Given the description of an element on the screen output the (x, y) to click on. 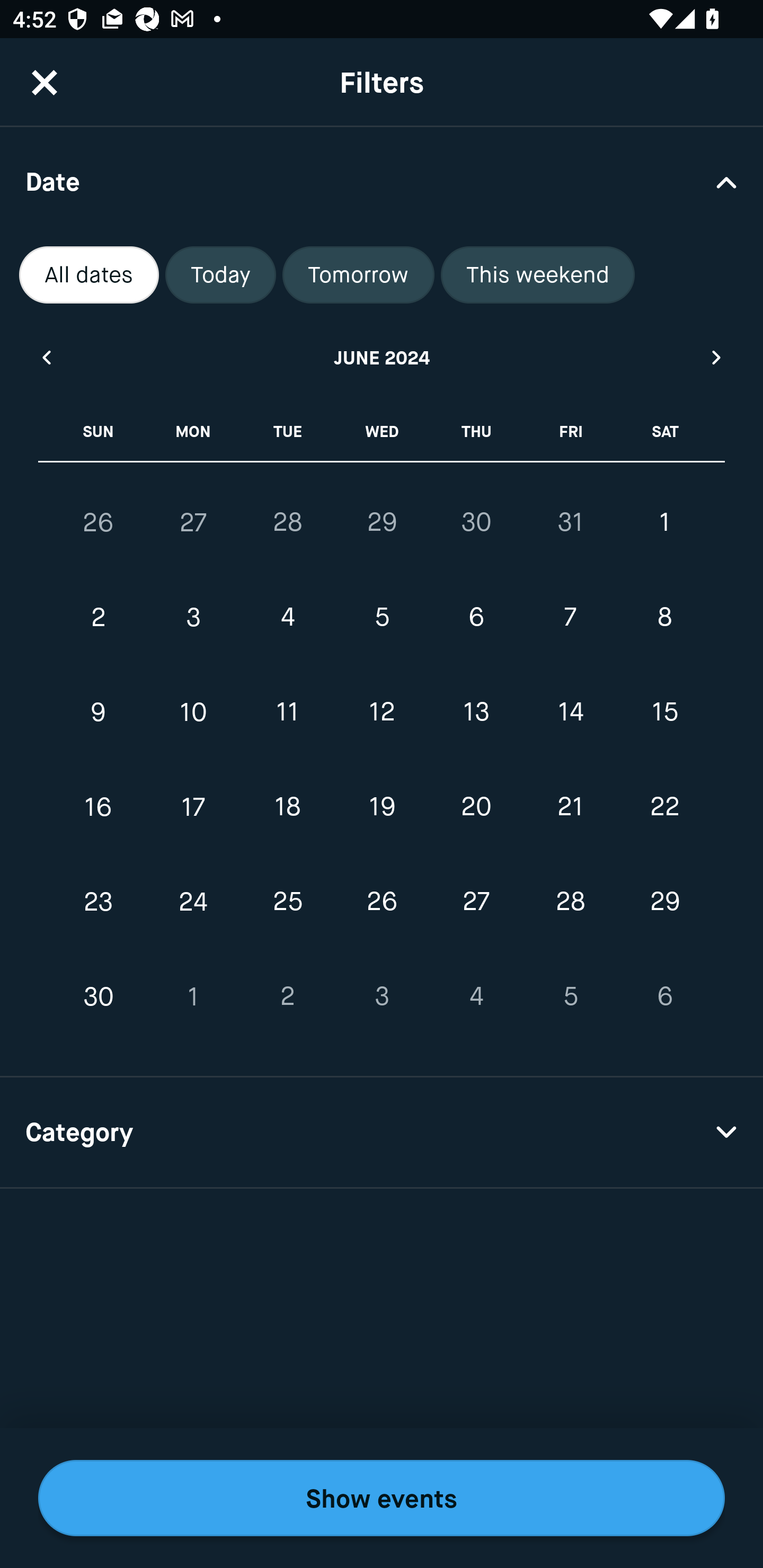
CloseButton (44, 82)
Date Drop Down Arrow (381, 181)
All dates (88, 274)
Today (220, 274)
Tomorrow (358, 274)
This weekend (537, 274)
Previous (45, 357)
Next (717, 357)
26 (98, 522)
27 (192, 522)
28 (287, 522)
29 (381, 522)
30 (475, 522)
31 (570, 522)
1 (664, 522)
2 (98, 617)
3 (192, 617)
4 (287, 617)
5 (381, 617)
6 (475, 617)
7 (570, 617)
8 (664, 617)
9 (98, 711)
10 (192, 711)
11 (287, 711)
12 (381, 711)
13 (475, 711)
14 (570, 711)
15 (664, 711)
16 (98, 806)
17 (192, 806)
18 (287, 806)
19 (381, 806)
20 (475, 806)
21 (570, 806)
22 (664, 806)
23 (98, 901)
24 (192, 901)
25 (287, 901)
26 (381, 901)
27 (475, 901)
28 (570, 901)
29 (664, 901)
30 (98, 996)
1 (192, 996)
2 (287, 996)
3 (381, 996)
4 (475, 996)
5 (570, 996)
6 (664, 996)
